Given the description of an element on the screen output the (x, y) to click on. 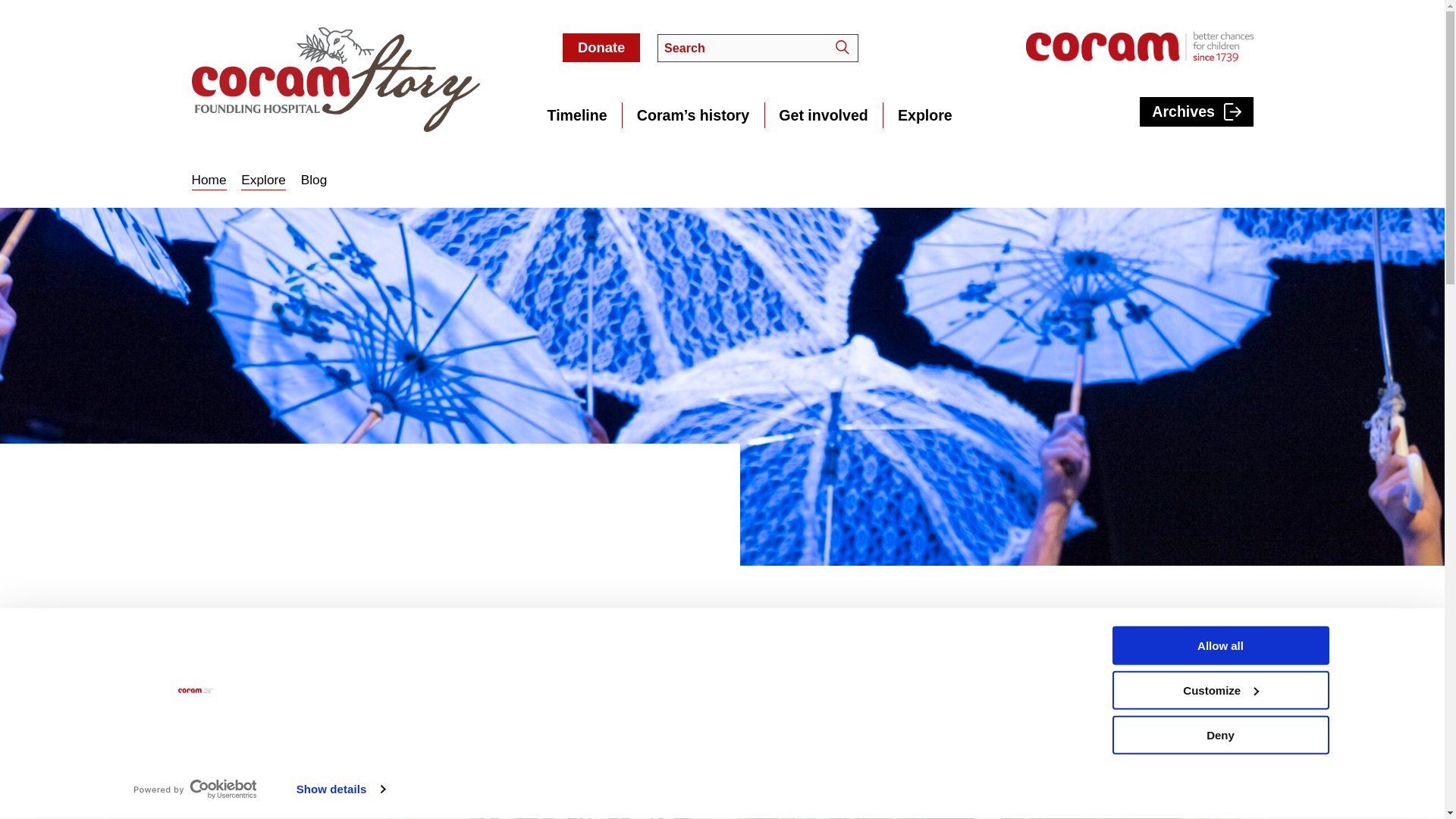
Search (877, 656)
